Given the description of an element on the screen output the (x, y) to click on. 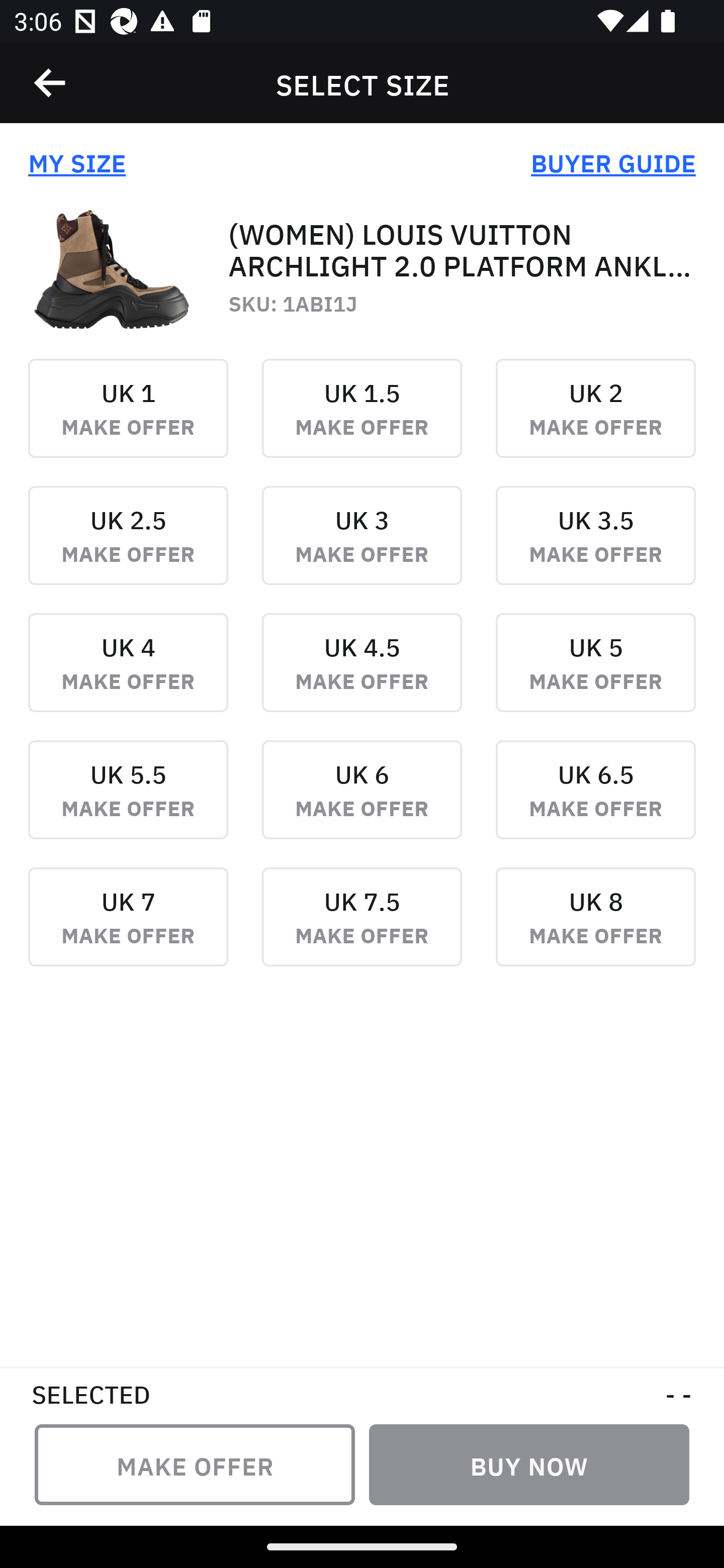
 (50, 83)
UK 1 MAKE OFFER (128, 422)
UK 1.5 MAKE OFFER (361, 422)
UK 2 MAKE OFFER (595, 422)
UK 2.5 MAKE OFFER (128, 549)
UK 3 MAKE OFFER (361, 549)
UK 3.5 MAKE OFFER (595, 549)
UK 4 MAKE OFFER (128, 676)
UK 4.5 MAKE OFFER (361, 676)
UK 5 MAKE OFFER (595, 676)
UK 5.5 MAKE OFFER (128, 803)
UK 6 MAKE OFFER (361, 803)
UK 6.5 MAKE OFFER (595, 803)
UK 7 MAKE OFFER (128, 930)
UK 7.5 MAKE OFFER (361, 930)
UK 8 MAKE OFFER (595, 930)
MAKE OFFER (194, 1464)
BUY NOW (529, 1464)
